Given the description of an element on the screen output the (x, y) to click on. 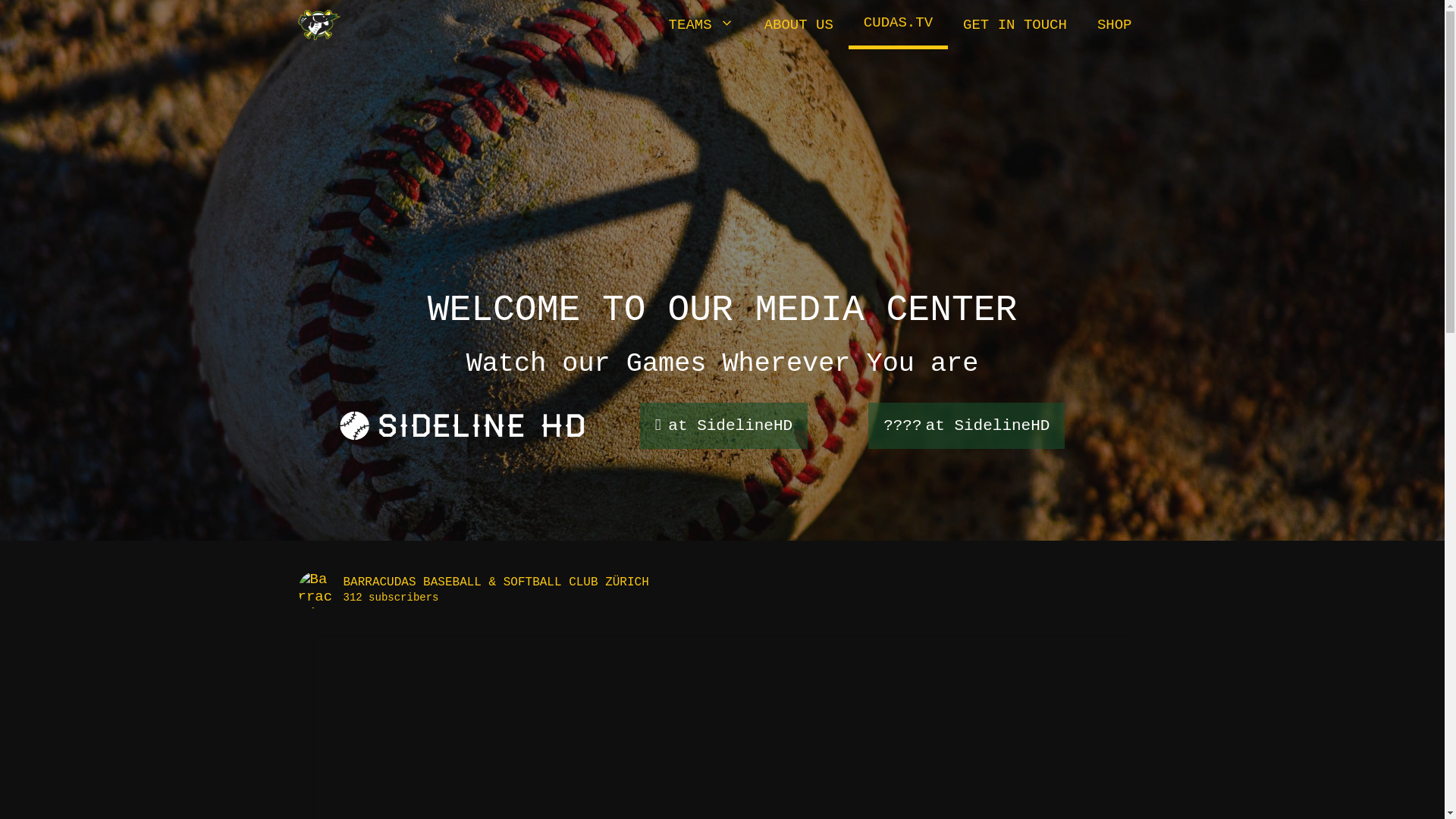
CUDAS.TV Element type: text (897, 22)
TEAMS Element type: text (701, 24)
Zurich Barracudas Element type: hover (318, 24)
shd_header Element type: hover (461, 426)
ABOUT US Element type: text (798, 24)
????
at SidelineHD Element type: text (966, 425)
GET IN TOUCH Element type: text (1014, 24)
SHOP Element type: text (1114, 24)
